Given the description of an element on the screen output the (x, y) to click on. 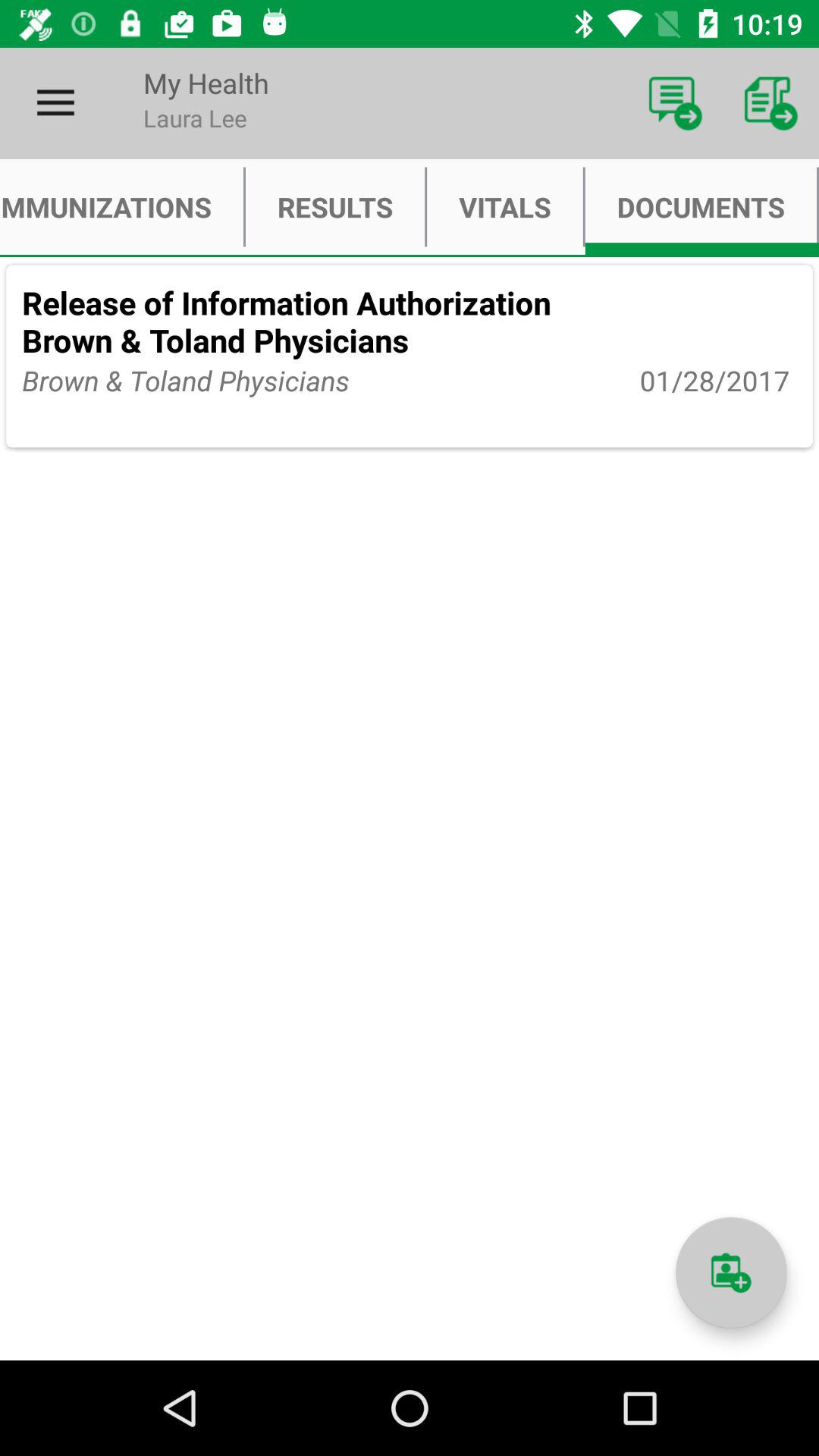
turn off icon to the right of my health icon (675, 103)
